Given the description of an element on the screen output the (x, y) to click on. 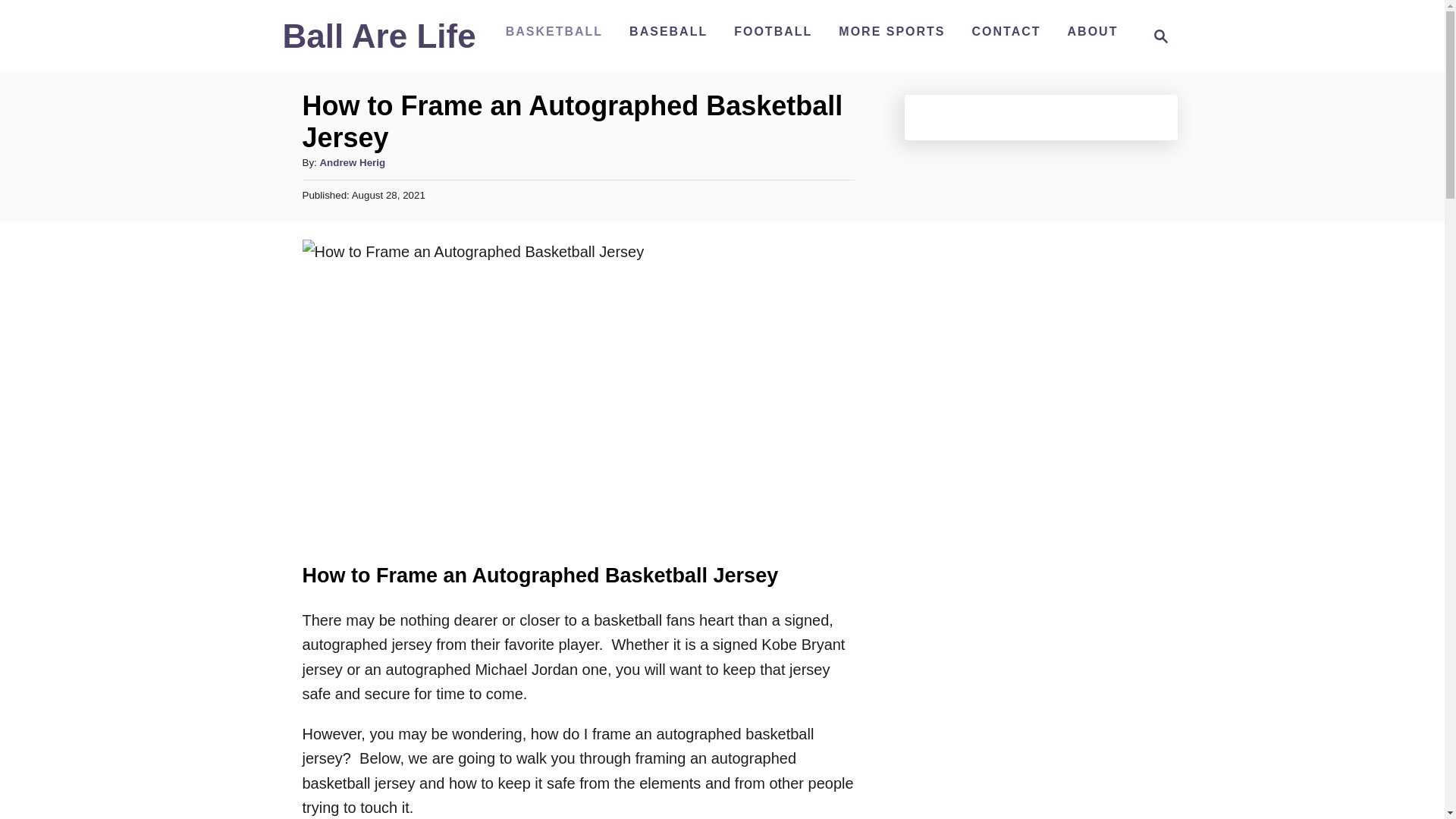
Ball Are Life (379, 42)
Magnifying Glass (1155, 36)
FOOTBALL (1160, 36)
ABOUT (772, 31)
MORE SPORTS (1092, 31)
BASKETBALL (891, 31)
Andrew Herig (553, 31)
CONTACT (351, 162)
Ball Are Life (1005, 31)
